Given the description of an element on the screen output the (x, y) to click on. 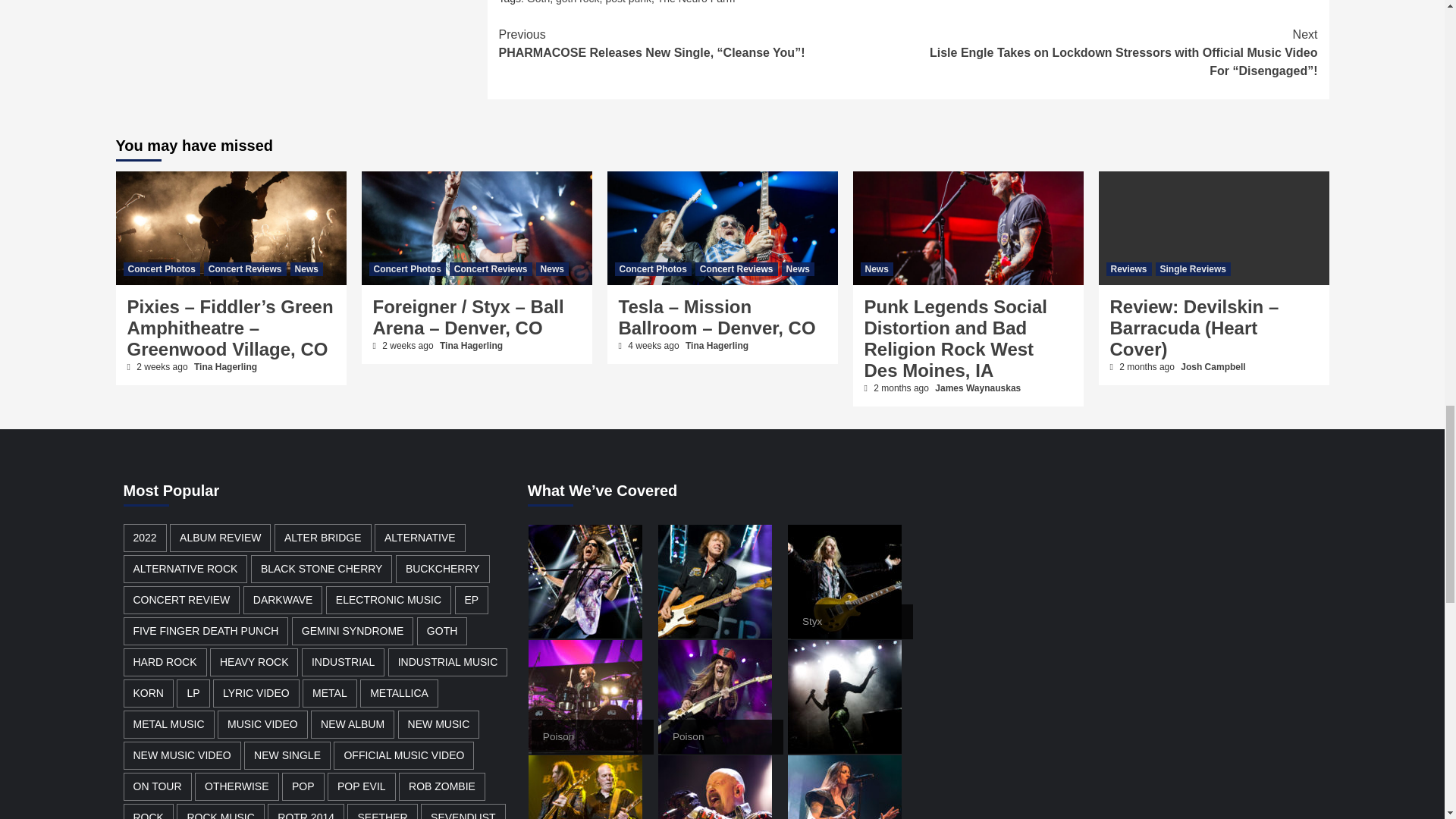
Goth (538, 2)
The Neuro Farm (696, 2)
goth rock (577, 2)
post punk (627, 2)
